Given the description of an element on the screen output the (x, y) to click on. 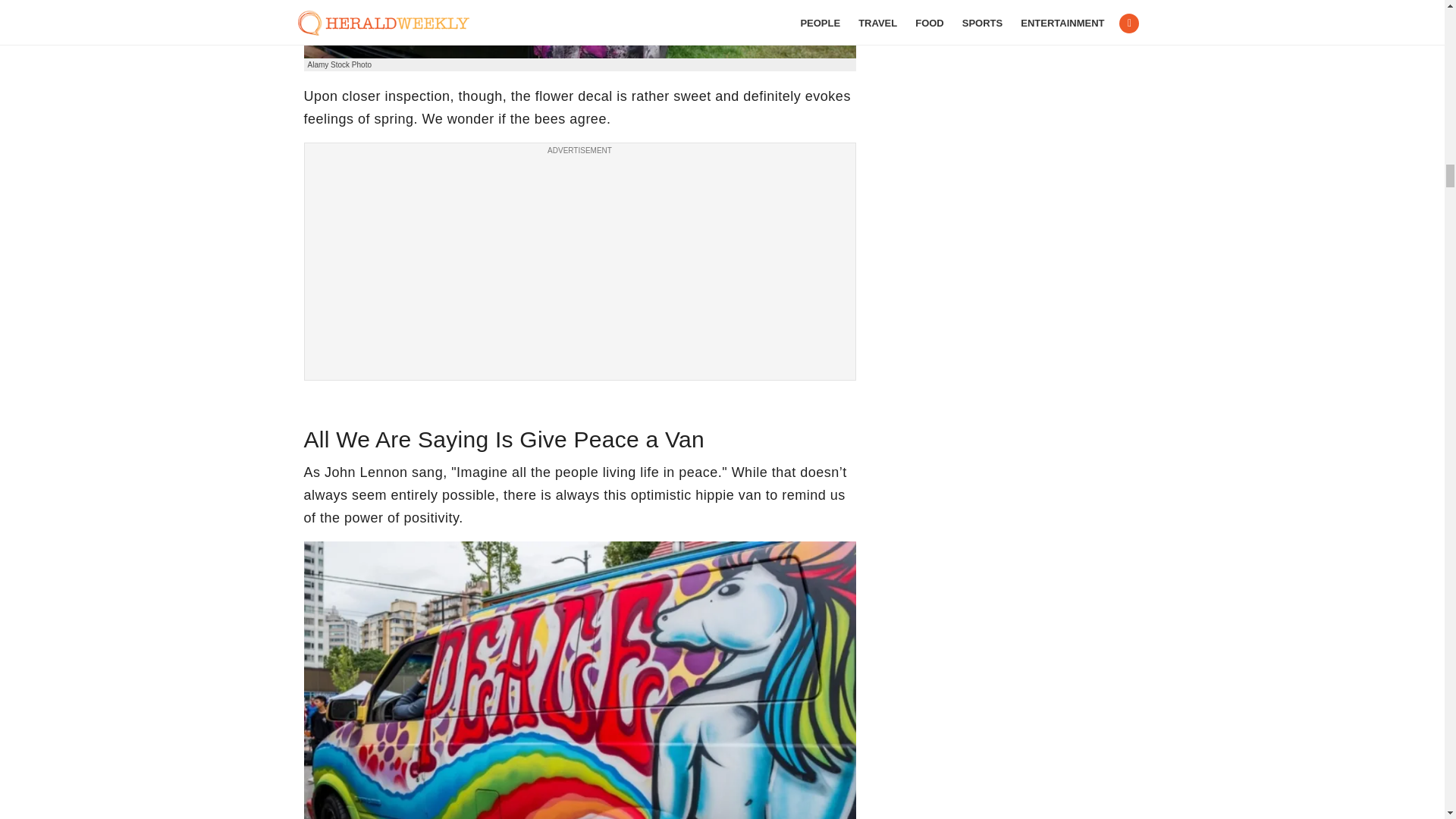
Floral Gear (579, 29)
